Given the description of an element on the screen output the (x, y) to click on. 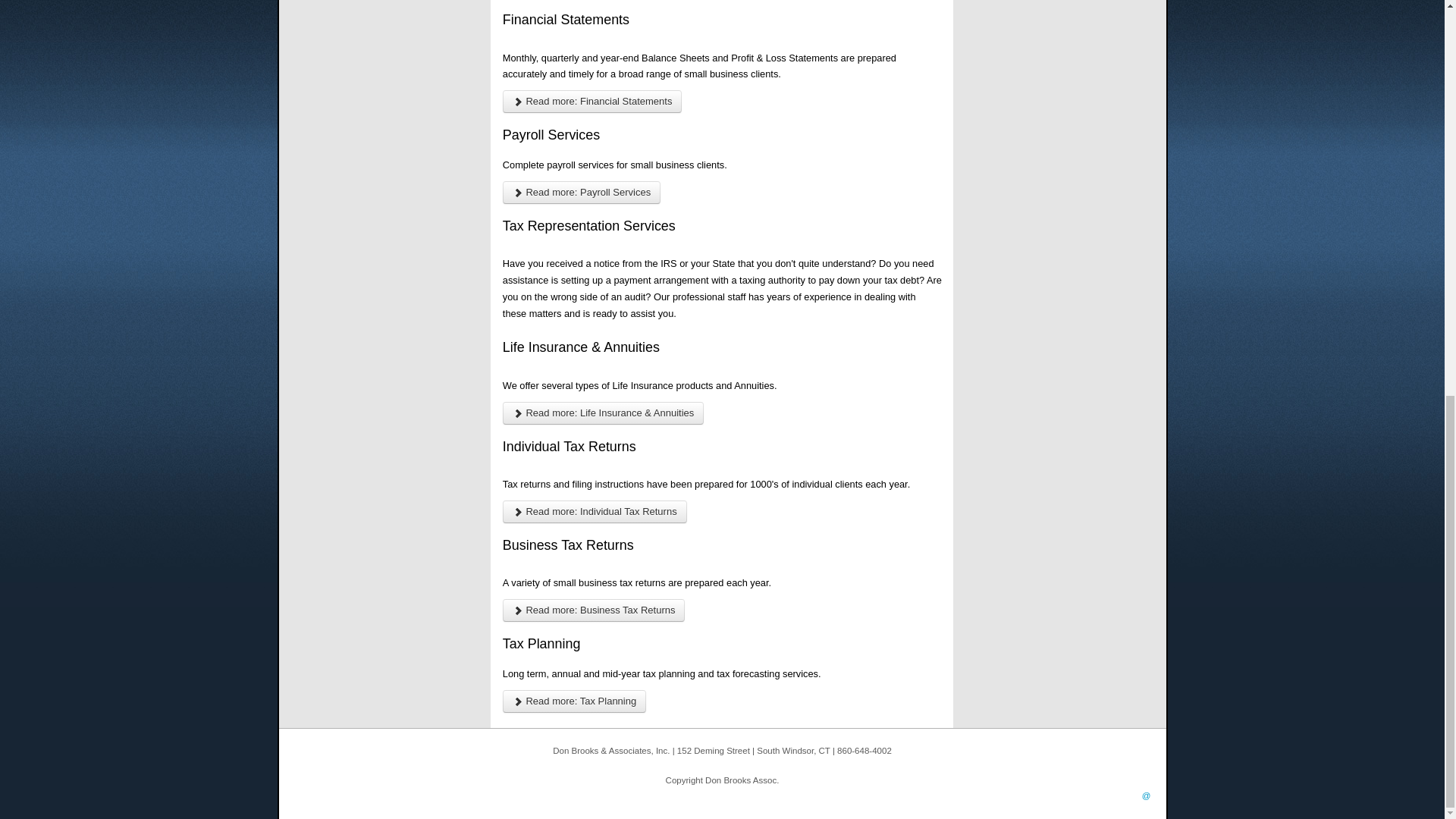
Read more: Financial Statements (592, 101)
Read more: Business Tax Returns (593, 609)
Read more: Tax Planning (574, 701)
Read more: Payroll Services (581, 191)
Read more: Individual Tax Returns (594, 511)
